Given the description of an element on the screen output the (x, y) to click on. 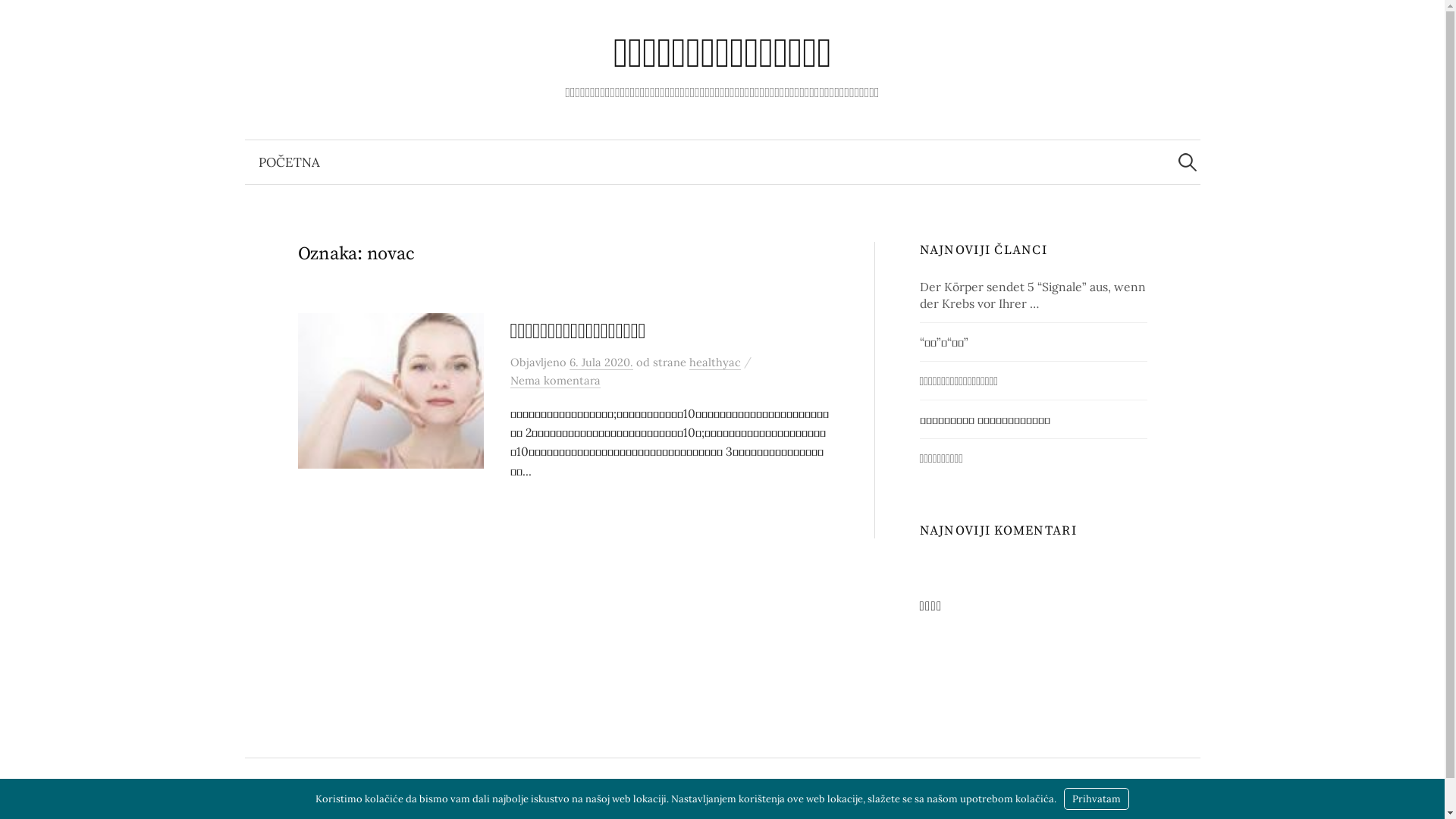
6. Jula 2020. Element type: text (600, 362)
Pretraga Element type: text (18, 18)
Prihvatam Element type: text (1096, 798)
healthyac Element type: text (714, 362)
